Given the description of an element on the screen output the (x, y) to click on. 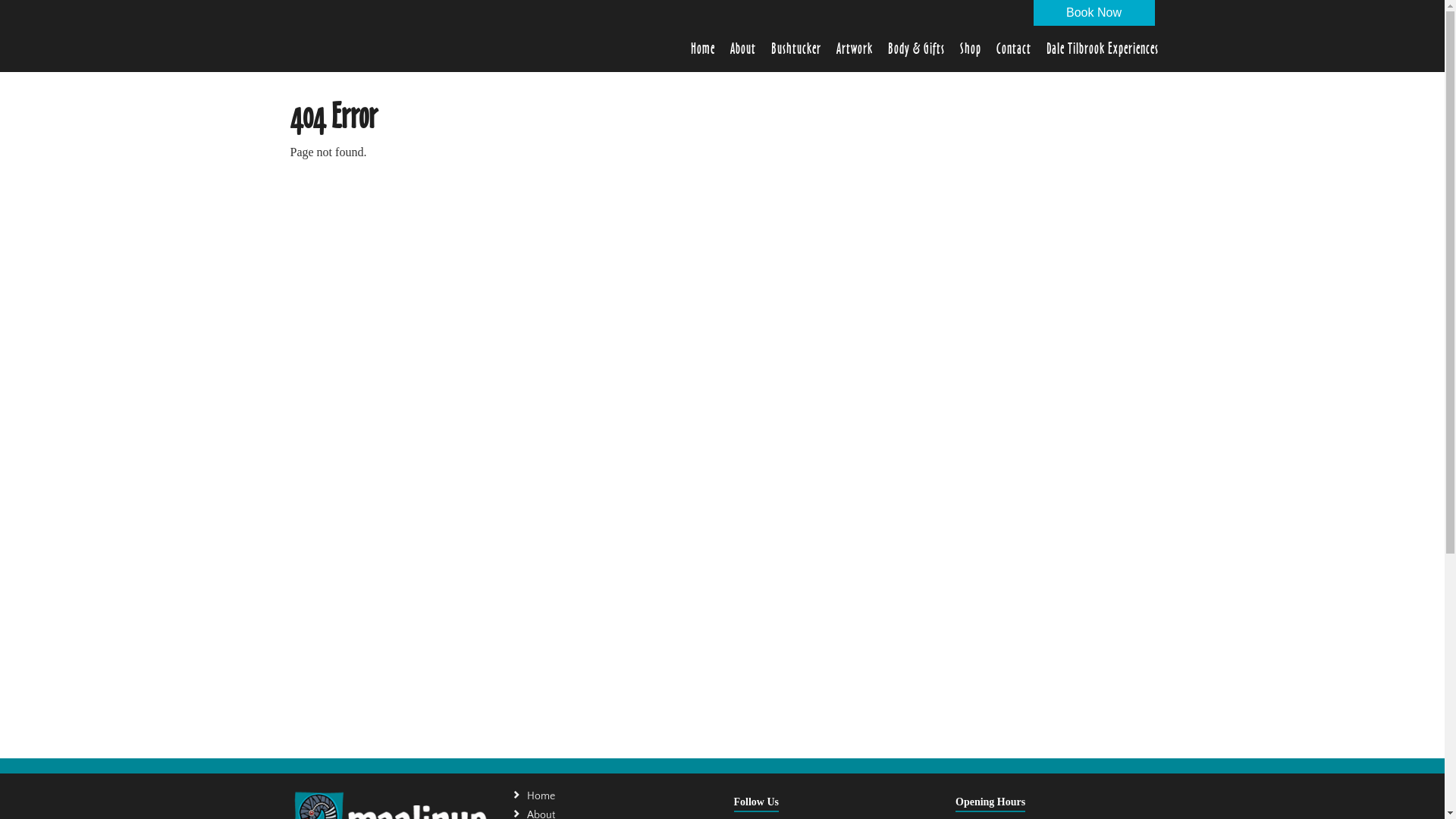
Contact Element type: text (1013, 48)
Artwork Element type: text (853, 48)
Shop Element type: text (970, 48)
Body & Gifts Element type: text (915, 48)
Dale Tilbrook Experiences Element type: text (1102, 48)
Home Element type: text (619, 795)
Book Now Element type: text (1093, 12)
Home Element type: text (701, 48)
About Element type: text (741, 48)
Bushtucker Element type: text (795, 48)
